Given the description of an element on the screen output the (x, y) to click on. 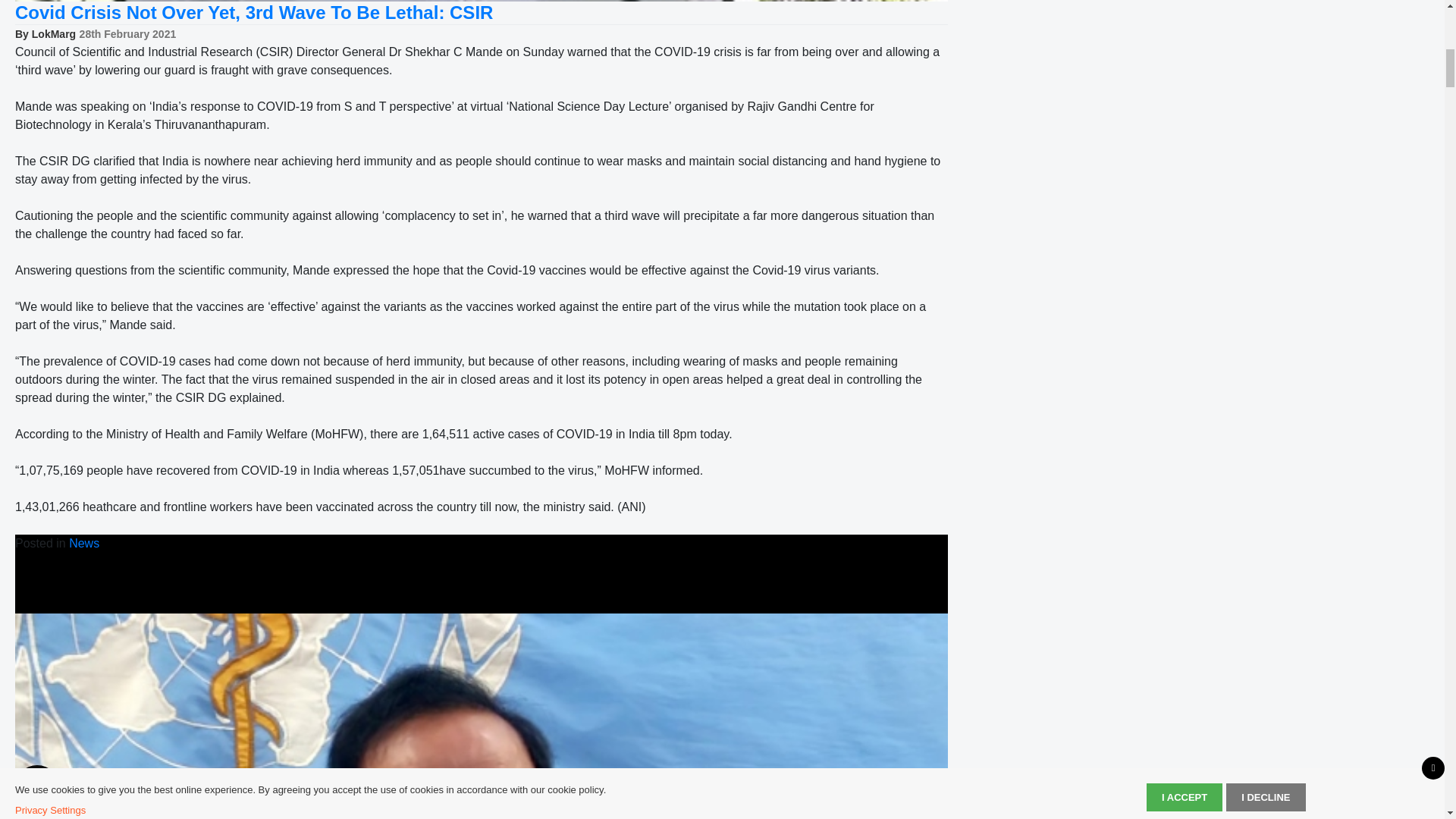
News (83, 543)
Covid Crisis Not Over Yet, 3rd Wave To Be Lethal: CSIR (253, 12)
LokMarg (53, 33)
